Given the description of an element on the screen output the (x, y) to click on. 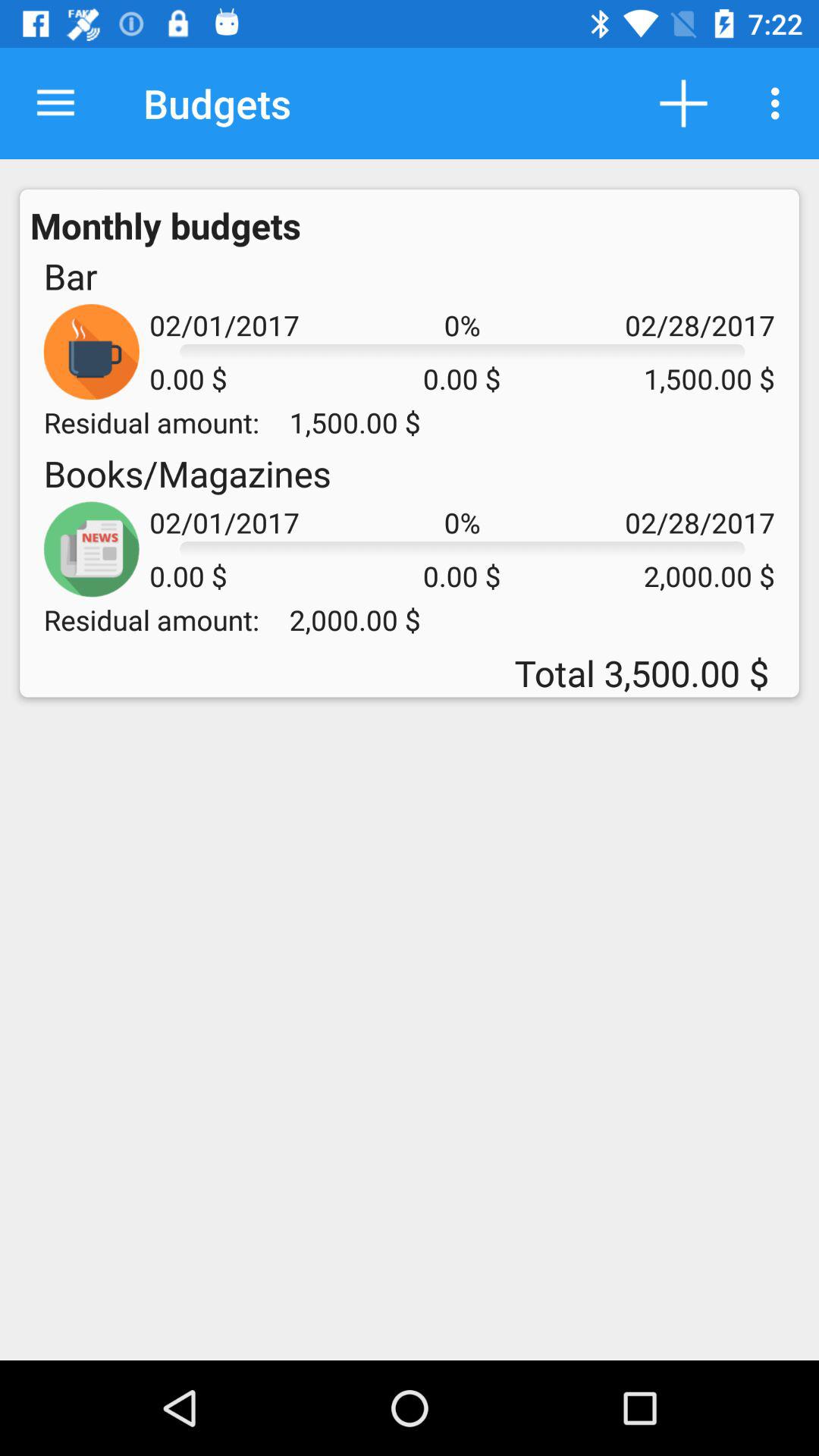
tap the item below the monthly budgets item (70, 275)
